Given the description of an element on the screen output the (x, y) to click on. 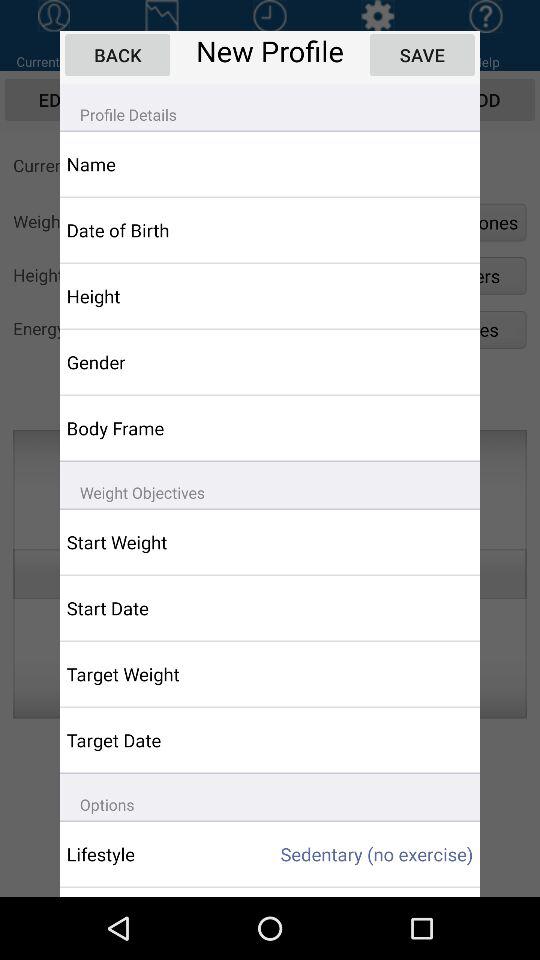
tap app next to lifestyle app (359, 853)
